Given the description of an element on the screen output the (x, y) to click on. 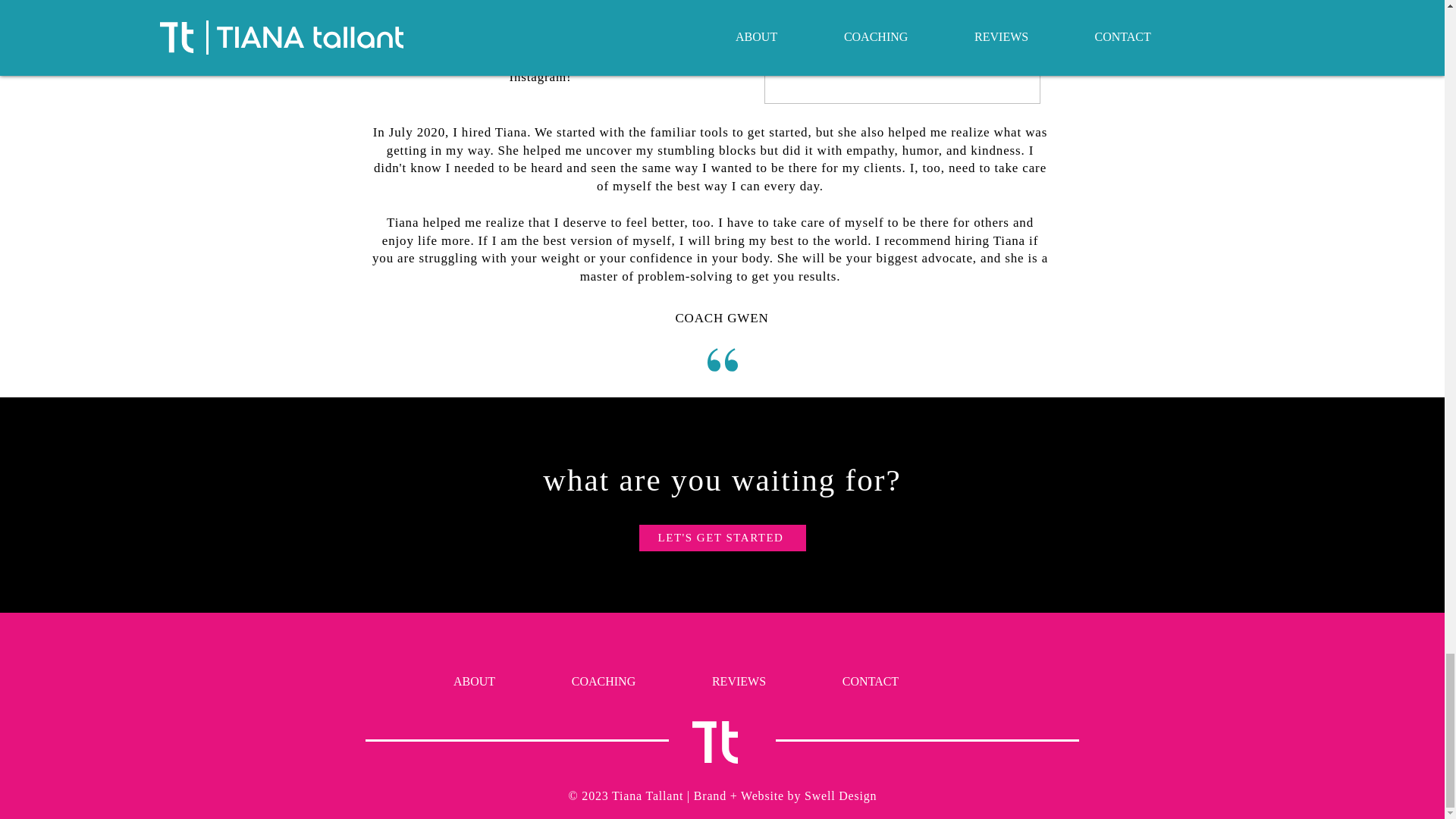
ABOUT (474, 681)
CONTACT (869, 681)
COACHING (604, 681)
image5.jpg (901, 52)
LET'S GET STARTED (722, 537)
REVIEWS (737, 681)
